Given the description of an element on the screen output the (x, y) to click on. 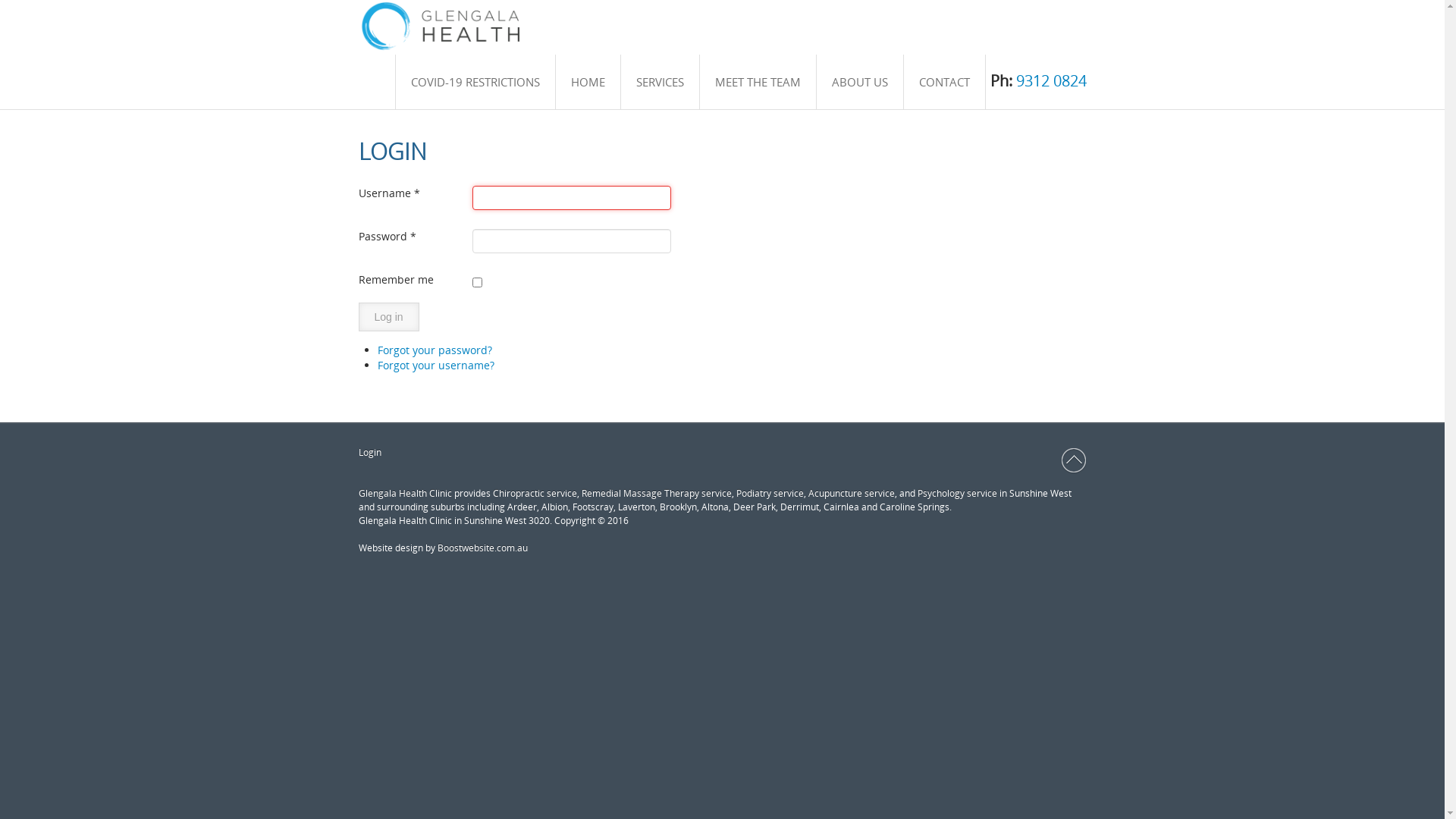
Chiropractic service Element type: text (534, 492)
9312 0824 Element type: text (1051, 80)
Forgot your username? Element type: text (435, 364)
ABOUT US Element type: text (859, 81)
COVID-19 RESTRICTIONS Element type: text (474, 81)
Acupuncture service Element type: text (851, 492)
HOME Element type: text (588, 81)
Glengala Health Clinic Element type: text (404, 492)
MEET THE TEAM Element type: text (757, 81)
Podiatry service Element type: text (769, 492)
Forgot your password? Element type: text (434, 349)
Boostwebsite.com.au Element type: text (481, 547)
Log in Element type: text (387, 316)
Remedial Massage Therapy service Element type: text (655, 492)
Login Element type: text (368, 452)
Psychology service Element type: text (957, 492)
